Given the description of an element on the screen output the (x, y) to click on. 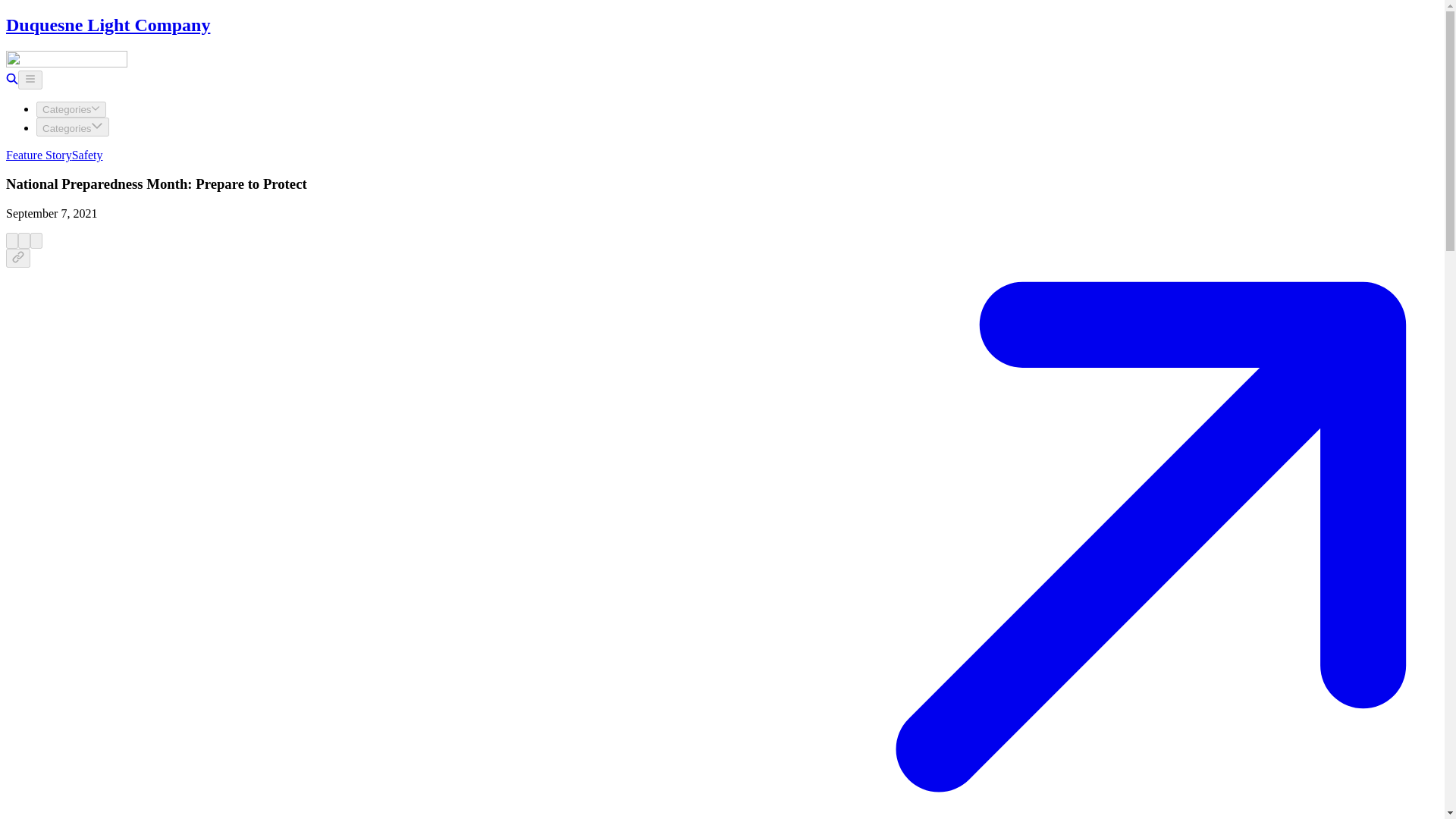
Categories (71, 109)
Feature Story (38, 154)
Categories (72, 126)
Search (11, 80)
Safety (87, 154)
Copy URL (17, 257)
Toggle navigation (29, 79)
